Given the description of an element on the screen output the (x, y) to click on. 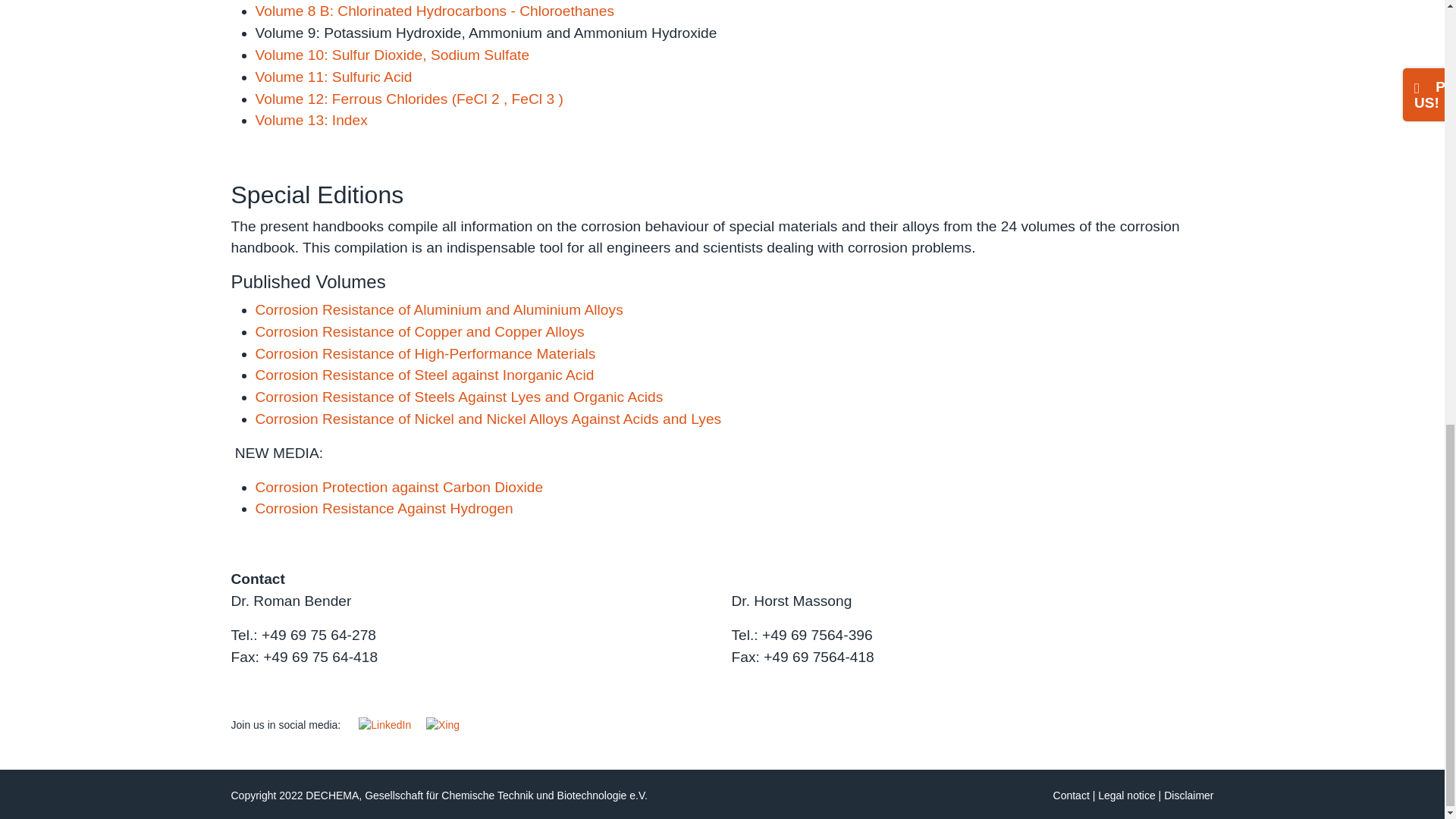
Corrosion Resistance of Copper and Copper Alloys (418, 331)
Corrosion Resistance of Aluminium and Aluminium Alloys (438, 309)
Corrosion Resistance of High-Performance Materials (424, 353)
Legal notice (1126, 795)
Aluminium and Aluminium Alloys (438, 309)
CHB Volume 10 (391, 54)
Contact (1070, 795)
Copper and Copper Alloys (418, 331)
Volume 8 B: Chlorinated Hydrocarbons - Chloroethanes (434, 10)
Corrosion Protection against Carbon Dioxide (398, 487)
